Given the description of an element on the screen output the (x, y) to click on. 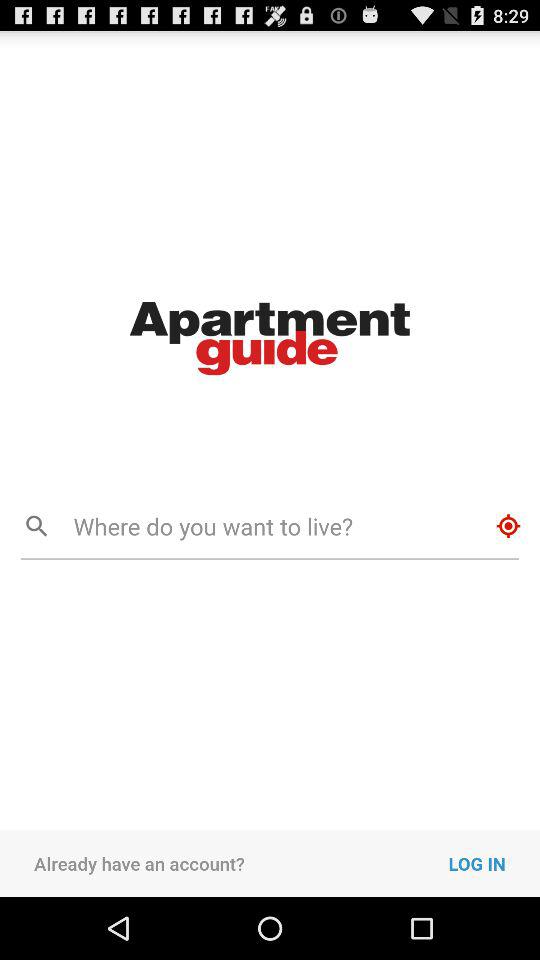
press log in (494, 863)
